Given the description of an element on the screen output the (x, y) to click on. 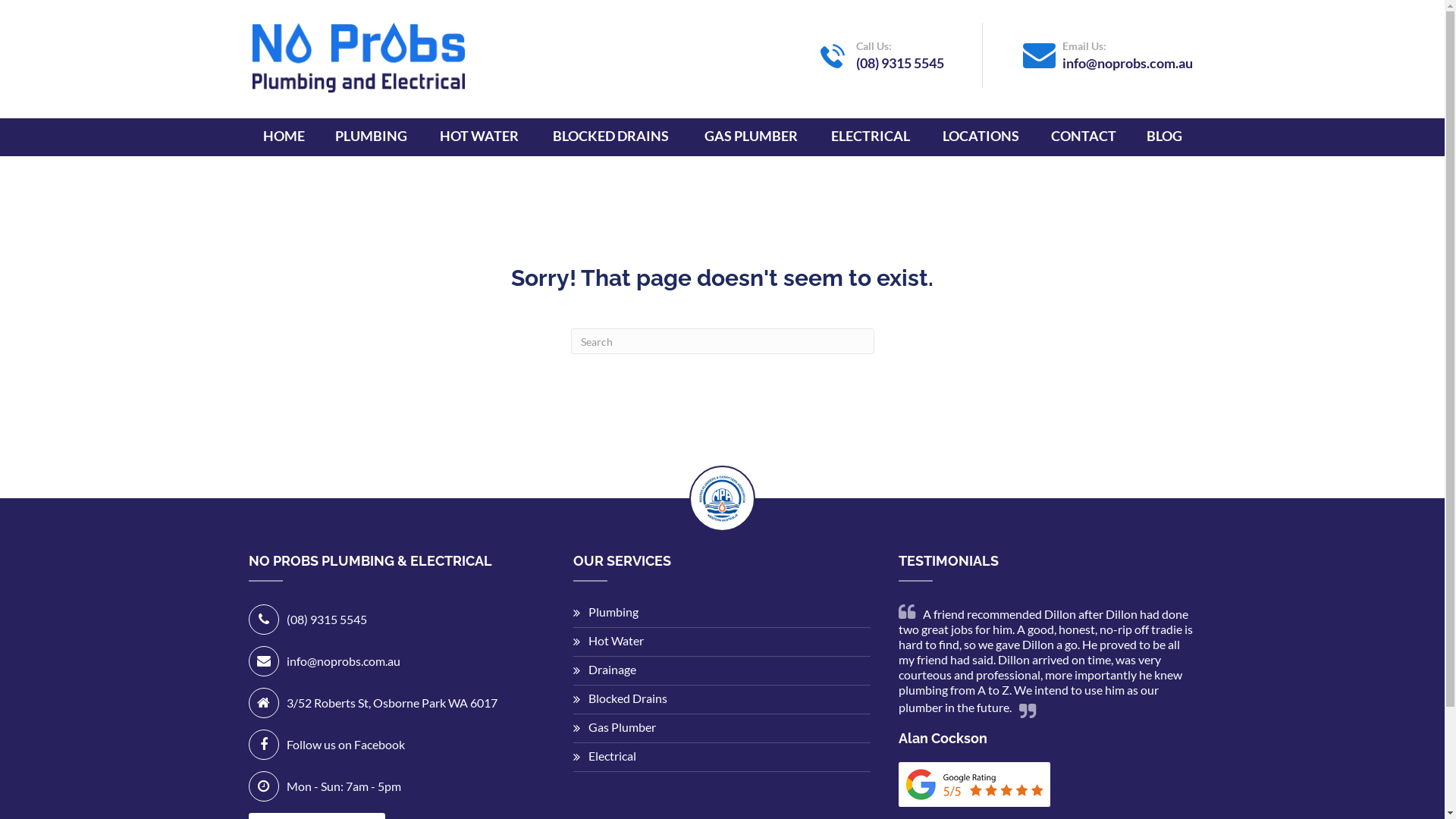
info@noprobs.com.au Element type: text (1126, 62)
info@noprobs.com.au Element type: text (343, 660)
Gas Plumber Element type: text (614, 726)
HOME Element type: text (283, 137)
HOT WATER Element type: text (478, 137)
ELECTRICAL Element type: text (869, 137)
Blocked Drains Element type: text (620, 697)
Drainage Element type: text (604, 669)
Plumbing Element type: text (605, 611)
(08) 9315 5545 Element type: text (899, 62)
CONTACT Element type: text (1083, 137)
LOCATIONS Element type: text (980, 137)
GAS PLUMBER Element type: text (750, 137)
Type and press Enter to search. Element type: hover (721, 341)
Hot Water Element type: text (608, 640)
3/52 Roberts St, Osborne Park WA 6017 Element type: text (391, 702)
BLOG Element type: text (1164, 137)
(08) 9315 5545 Element type: text (326, 618)
PLUMBING Element type: text (371, 137)
Follow us on Facebook Element type: text (345, 744)
Electrical Element type: text (604, 755)
BLOCKED DRAINS Element type: text (610, 137)
